Given the description of an element on the screen output the (x, y) to click on. 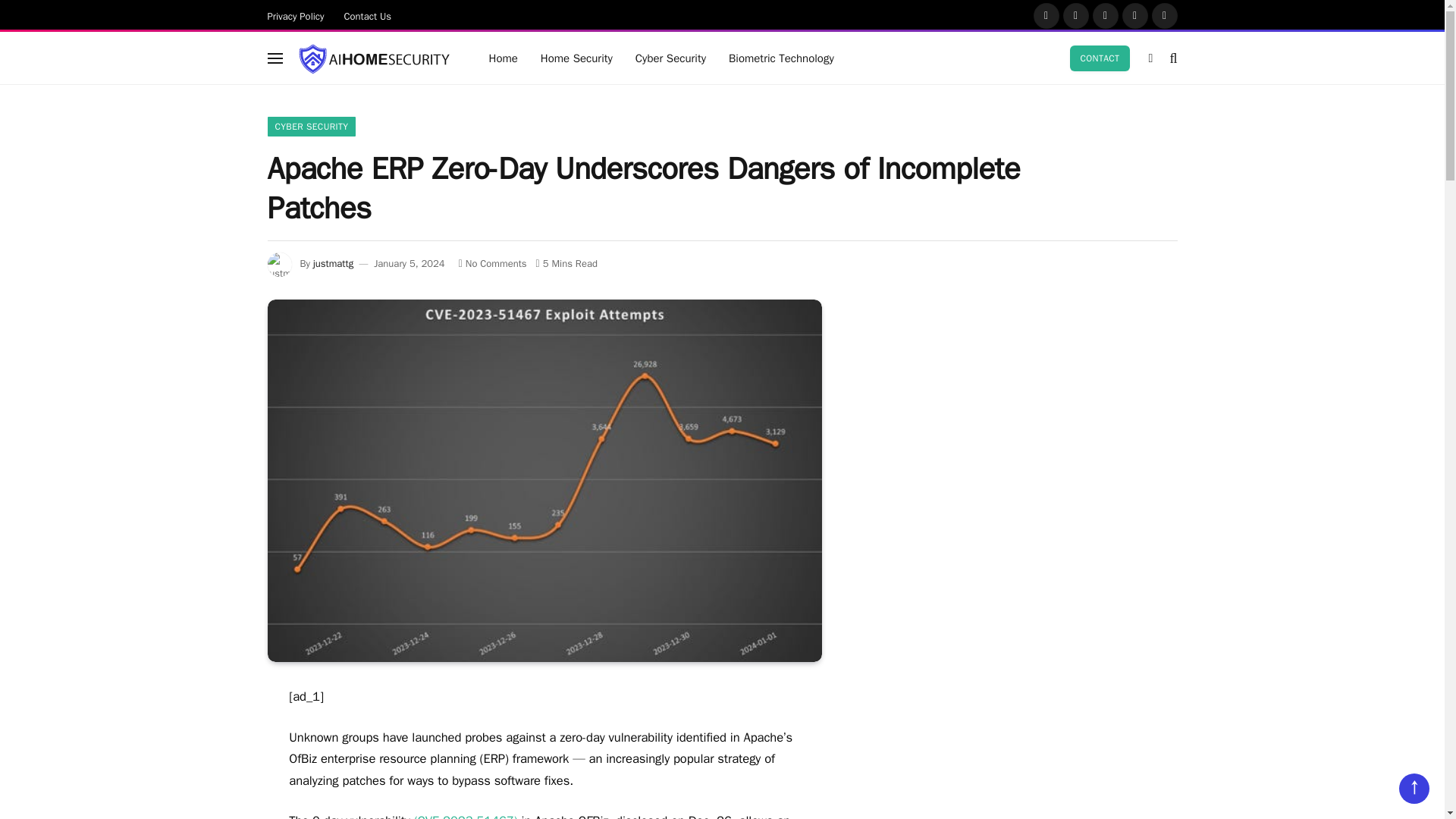
Privacy Policy (295, 15)
Instagram (1105, 15)
AI Home Security (372, 57)
CYBER SECURITY (310, 126)
Home Security (576, 57)
Cyber Security (670, 57)
Contact Us (367, 15)
justmattg (333, 263)
Pinterest (1135, 15)
Biometric Technology (781, 57)
